Given the description of an element on the screen output the (x, y) to click on. 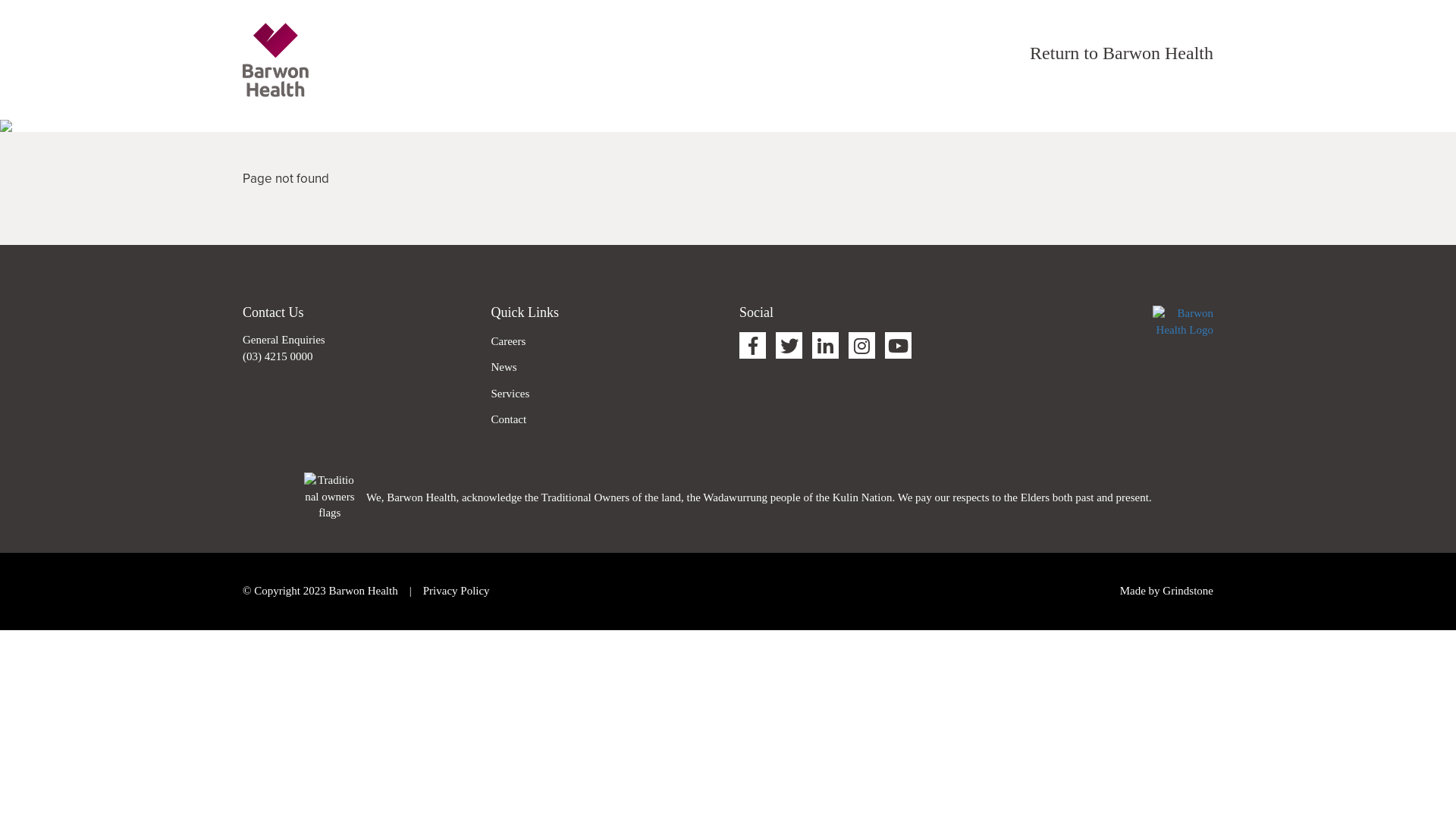
Privacy Policy Element type: text (456, 590)
Grindstone Element type: text (1187, 590)
BH Gifts Benefits Element type: hover (275, 58)
News Element type: text (504, 366)
BH Gifts Benefits Element type: hover (1182, 320)
Careers Element type: text (508, 341)
Services Element type: text (510, 393)
(03) 4215 0000 Element type: text (277, 356)
Return to Barwon Health Element type: text (1121, 53)
Contact Element type: text (509, 419)
